Given the description of an element on the screen output the (x, y) to click on. 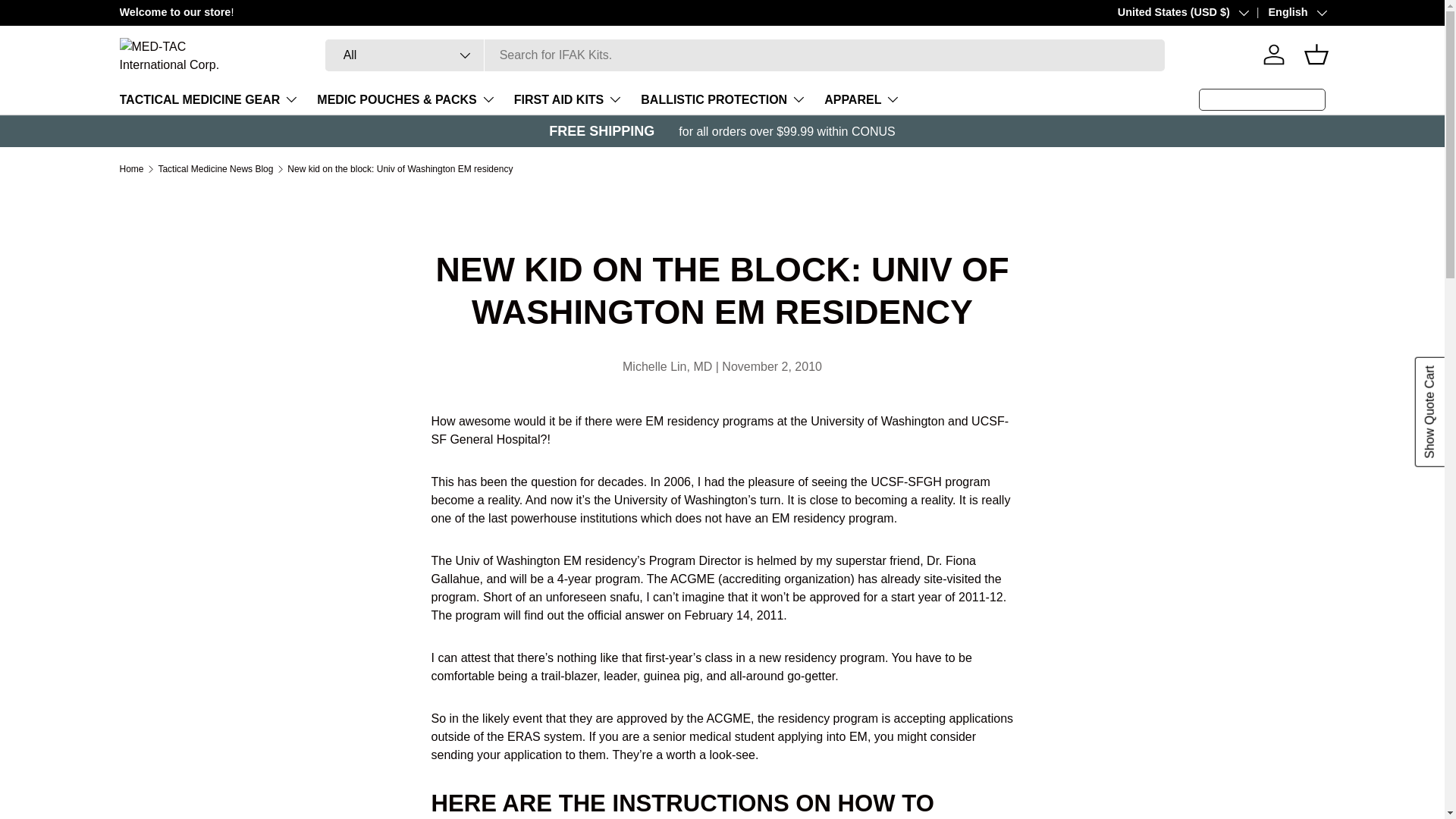
English (1285, 12)
Basket (1316, 54)
Log in (1273, 54)
Skip to content (68, 21)
TACTICAL MEDICINE GEAR (209, 99)
All (404, 55)
